Given the description of an element on the screen output the (x, y) to click on. 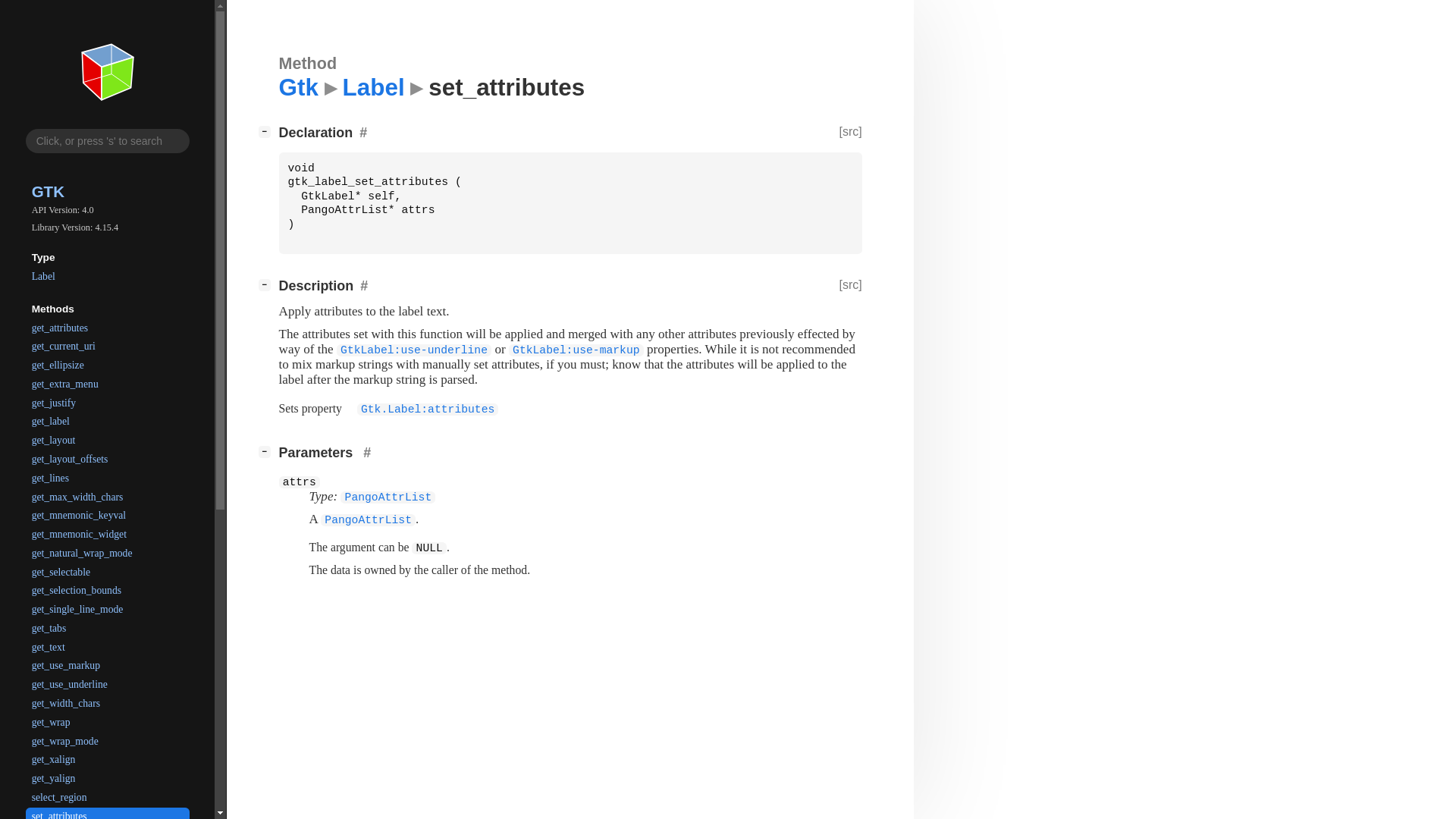
go to source location (850, 286)
transfer: none (419, 569)
go to source location (850, 132)
Label (107, 275)
GTK (107, 190)
